Given the description of an element on the screen output the (x, y) to click on. 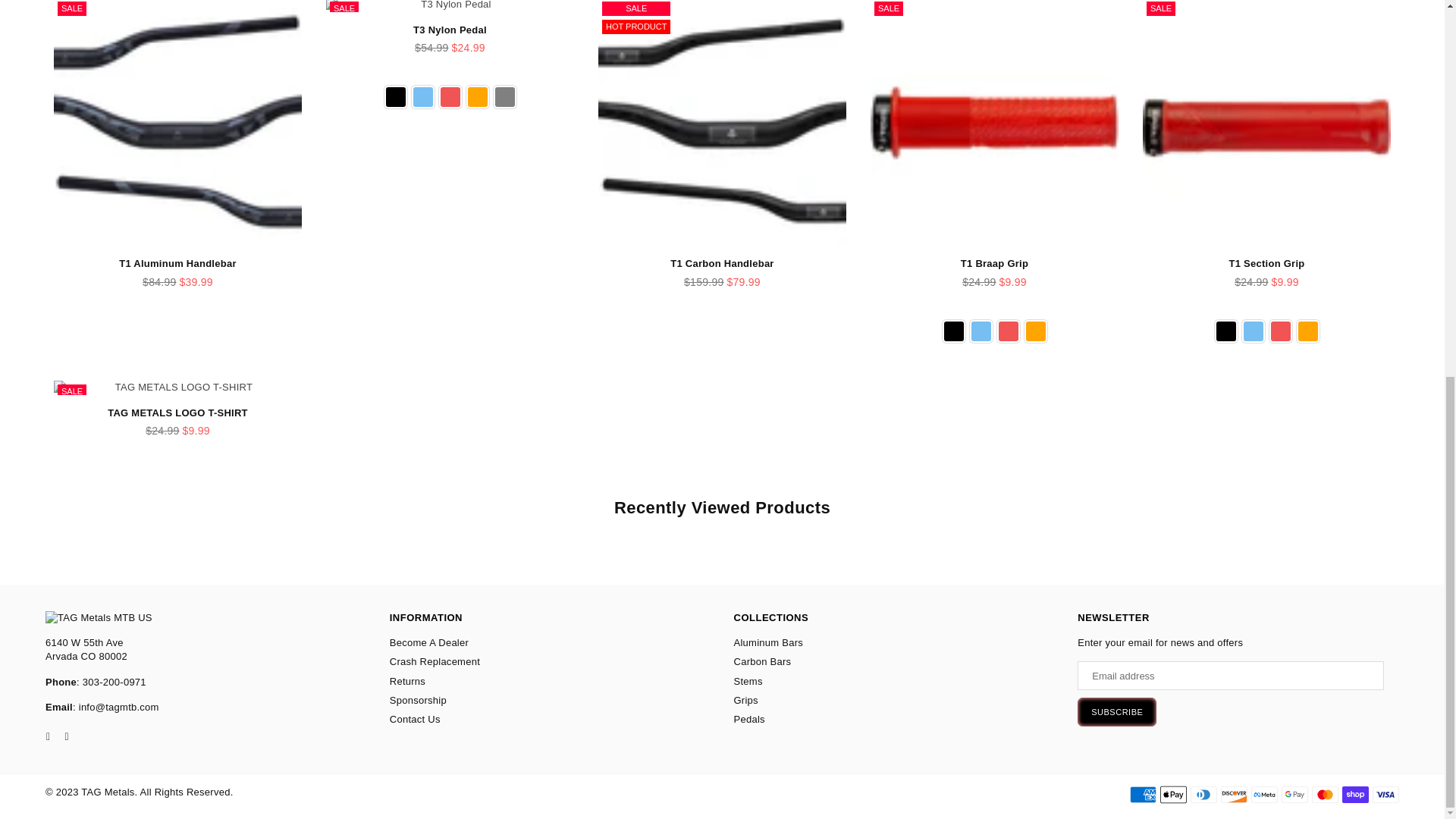
Diners Club (1204, 794)
Black (395, 96)
Apple Pay (1173, 794)
Discover (1234, 794)
Red (449, 96)
Black (952, 331)
Orange (476, 96)
Mastercard (1324, 794)
American Express (1142, 794)
Grey (504, 96)
Meta Pay (1264, 794)
Blue (421, 96)
Shop Pay (1355, 794)
Blue (980, 331)
Google Pay (1294, 794)
